Given the description of an element on the screen output the (x, y) to click on. 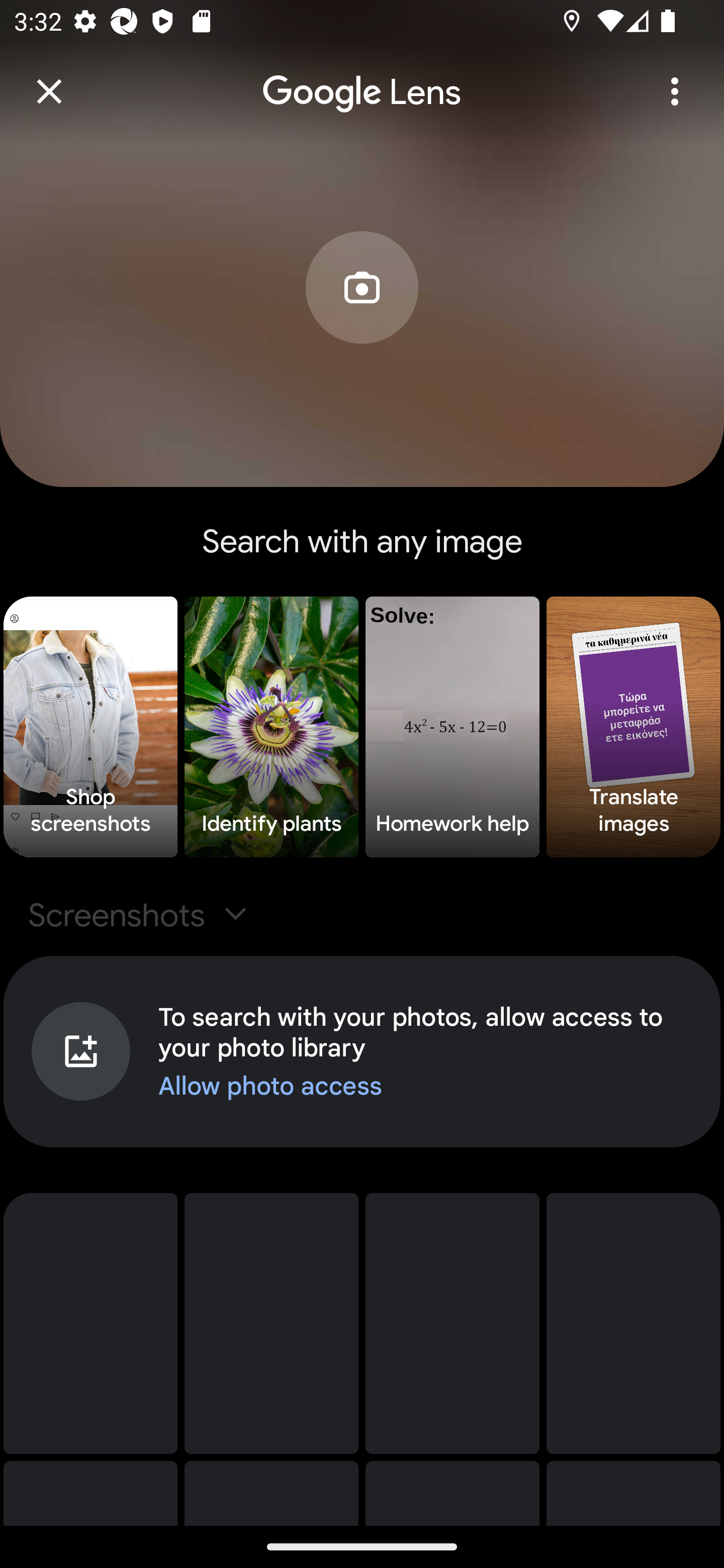
Google Lens Lens (361, 78)
Close (48, 91)
More options (674, 91)
Search with your camera (362, 317)
Shop screenshots (90, 726)
Identify plants (271, 726)
Homework help (452, 726)
Translate images (633, 726)
